Given the description of an element on the screen output the (x, y) to click on. 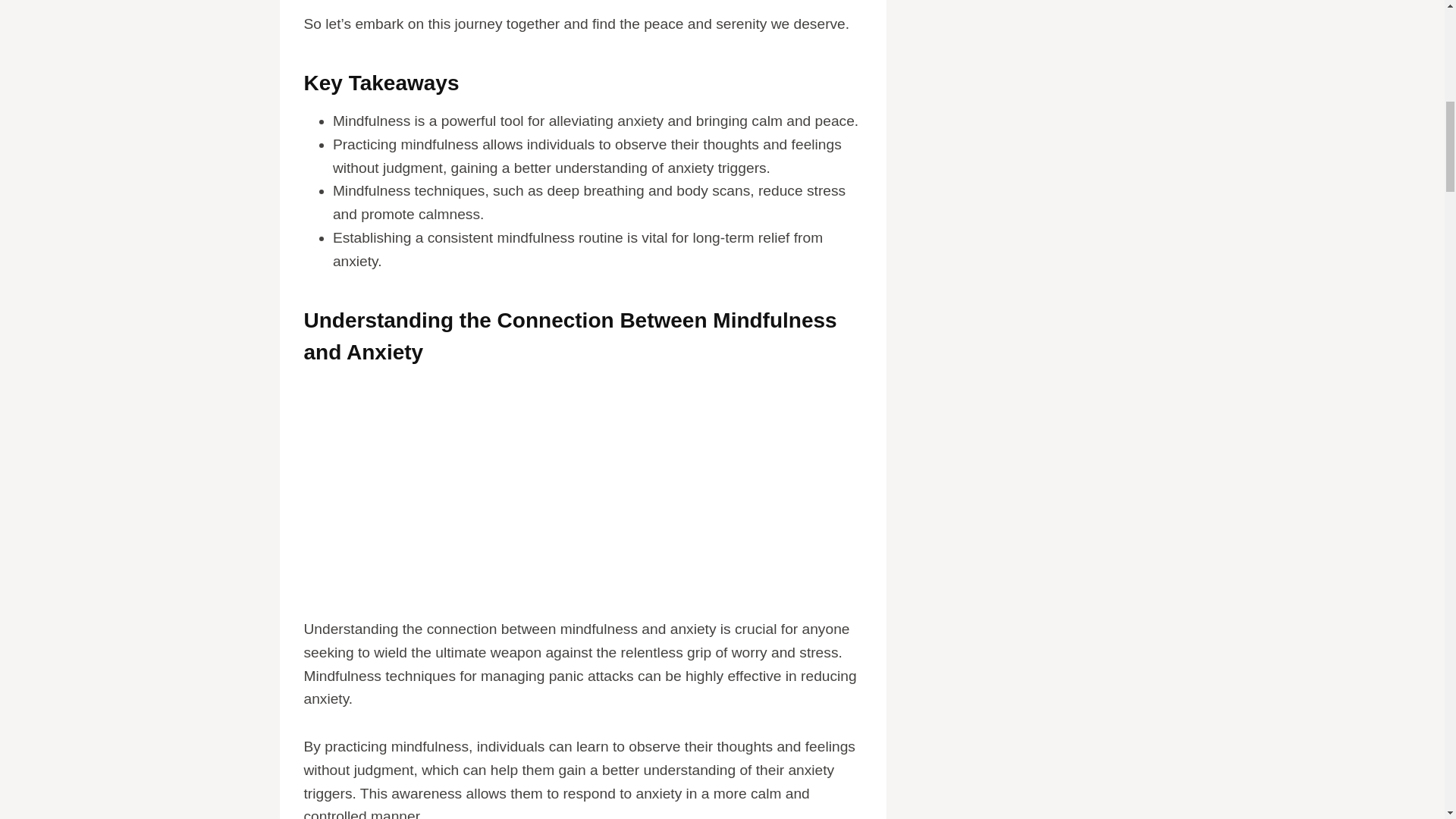
YouTube video player (582, 498)
